Given the description of an element on the screen output the (x, y) to click on. 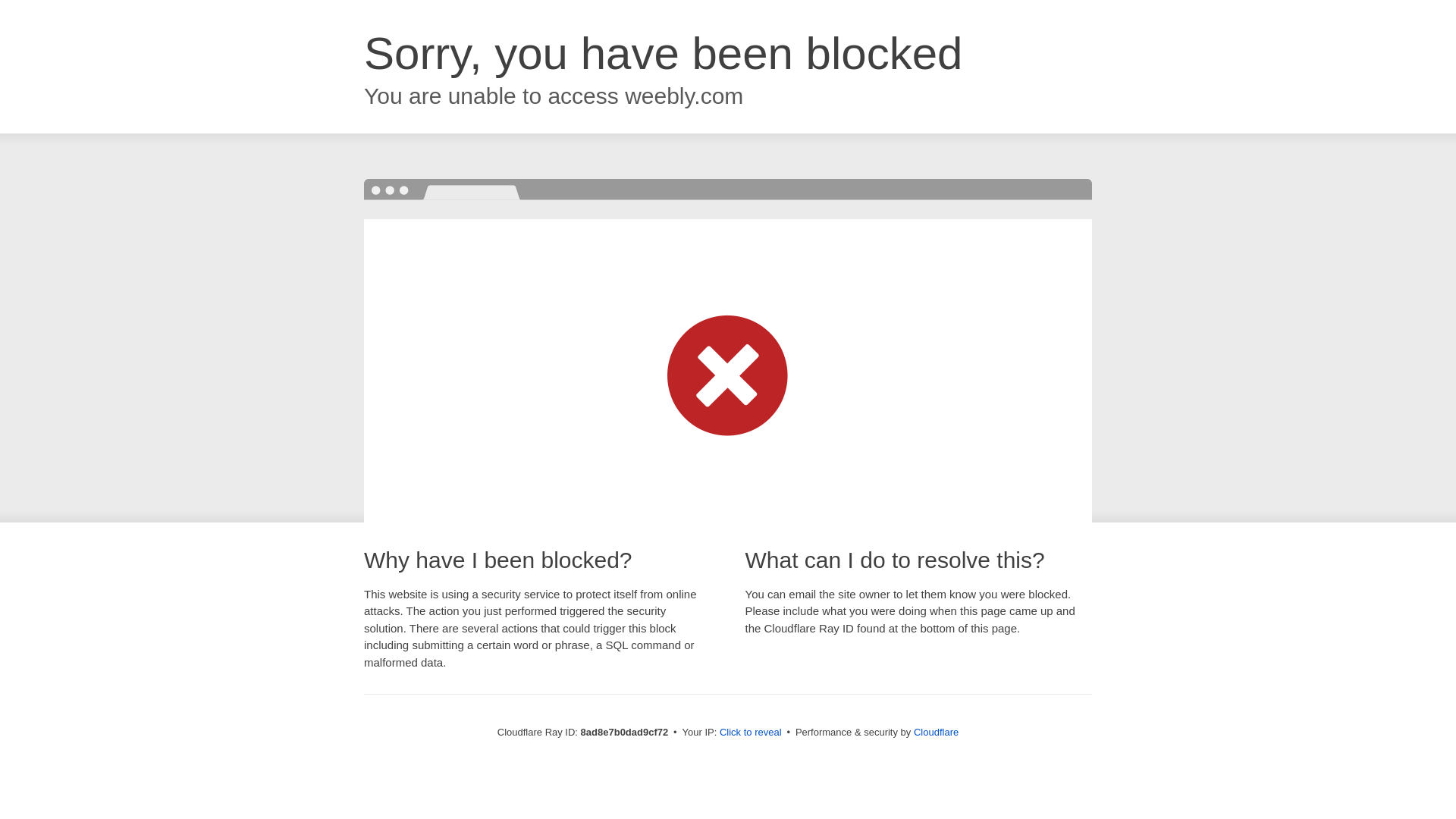
Cloudflare (936, 731)
Click to reveal (750, 732)
